Given the description of an element on the screen output the (x, y) to click on. 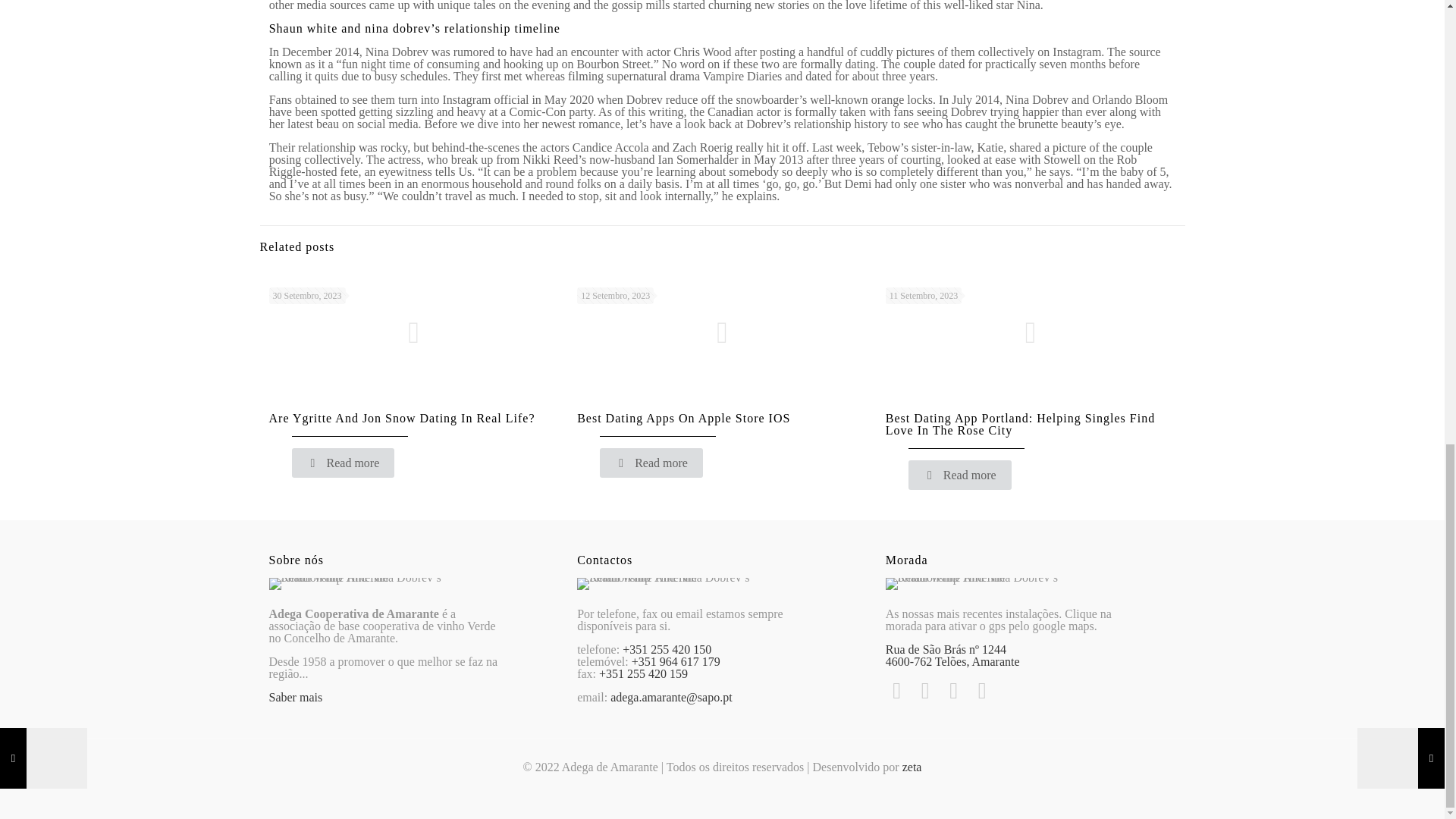
Saber mais (294, 697)
Read more (651, 462)
Read more (959, 474)
Best Dating Apps On Apple Store IOS (683, 418)
zeta (911, 766)
Are Ygritte And Jon Snow Dating In Real Life? (400, 418)
Read more (342, 462)
